Given the description of an element on the screen output the (x, y) to click on. 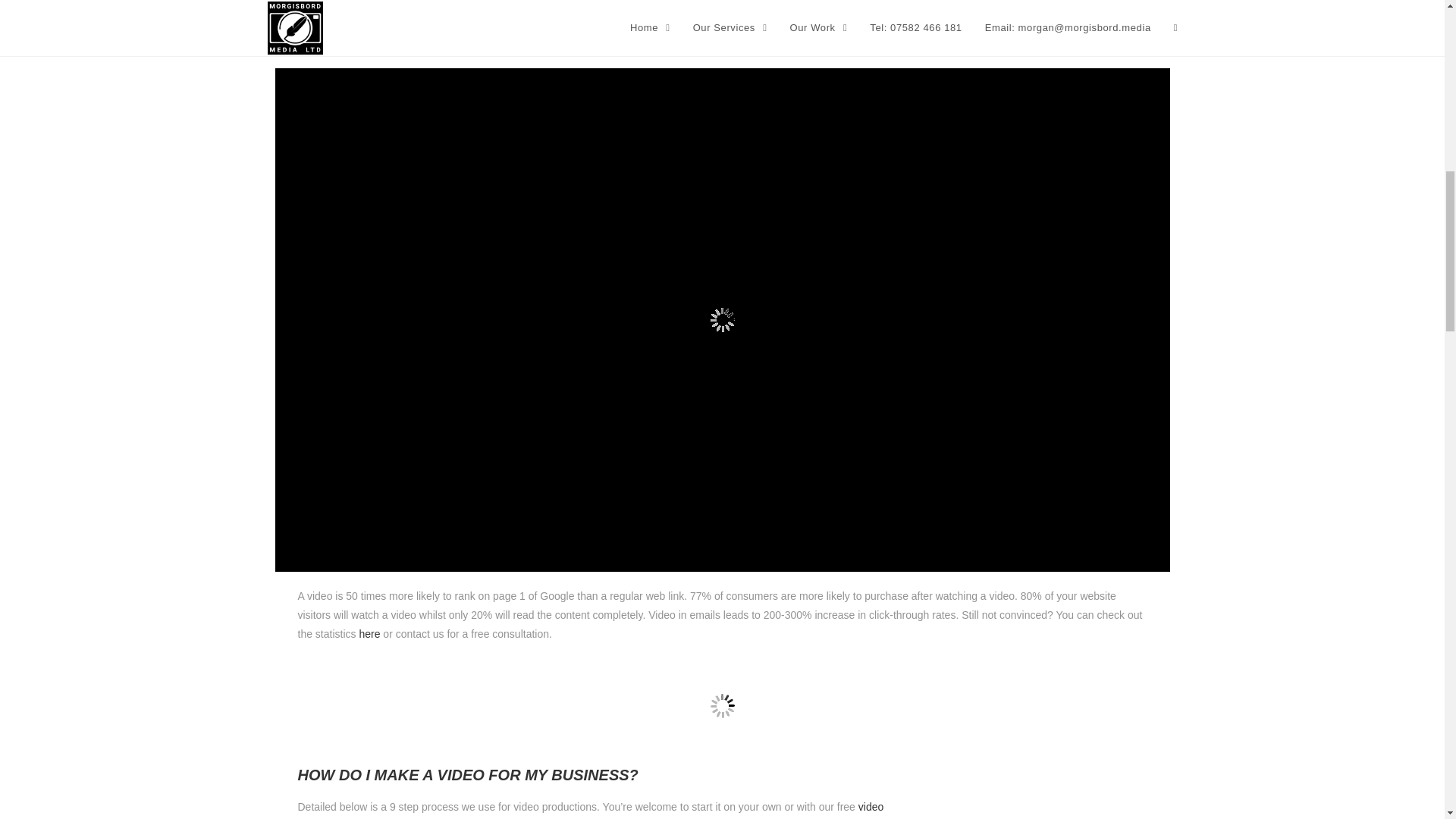
video production brief consultation form (590, 809)
here (369, 633)
